Given the description of an element on the screen output the (x, y) to click on. 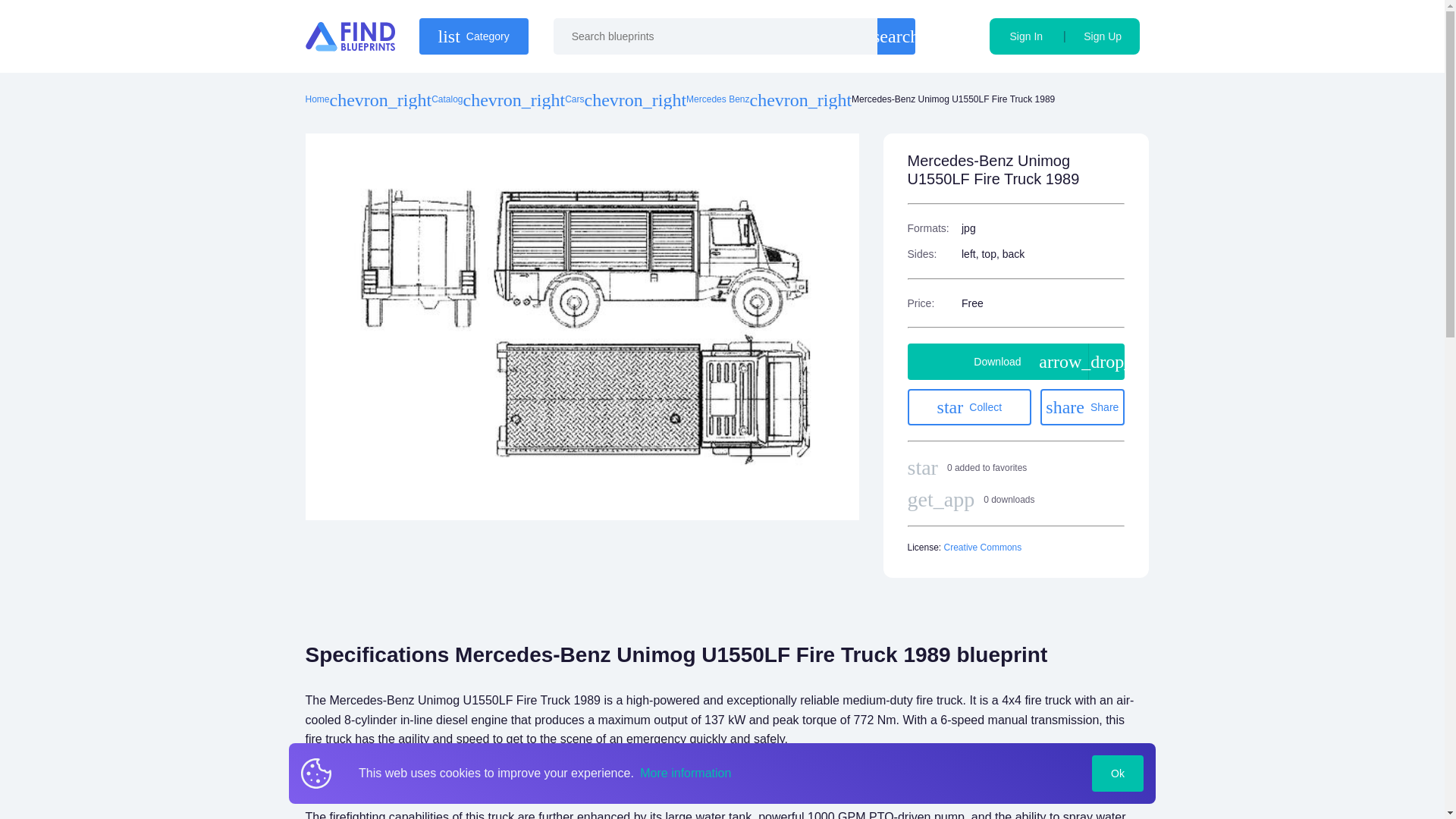
Cars (573, 99)
search (896, 36)
Sign In (1026, 36)
Sign Up (1102, 36)
Blueprint Mercedes-Benz Unimog U1550LF Fire Truck 1989 (1082, 407)
Home (473, 36)
Catalog (968, 407)
